Given the description of an element on the screen output the (x, y) to click on. 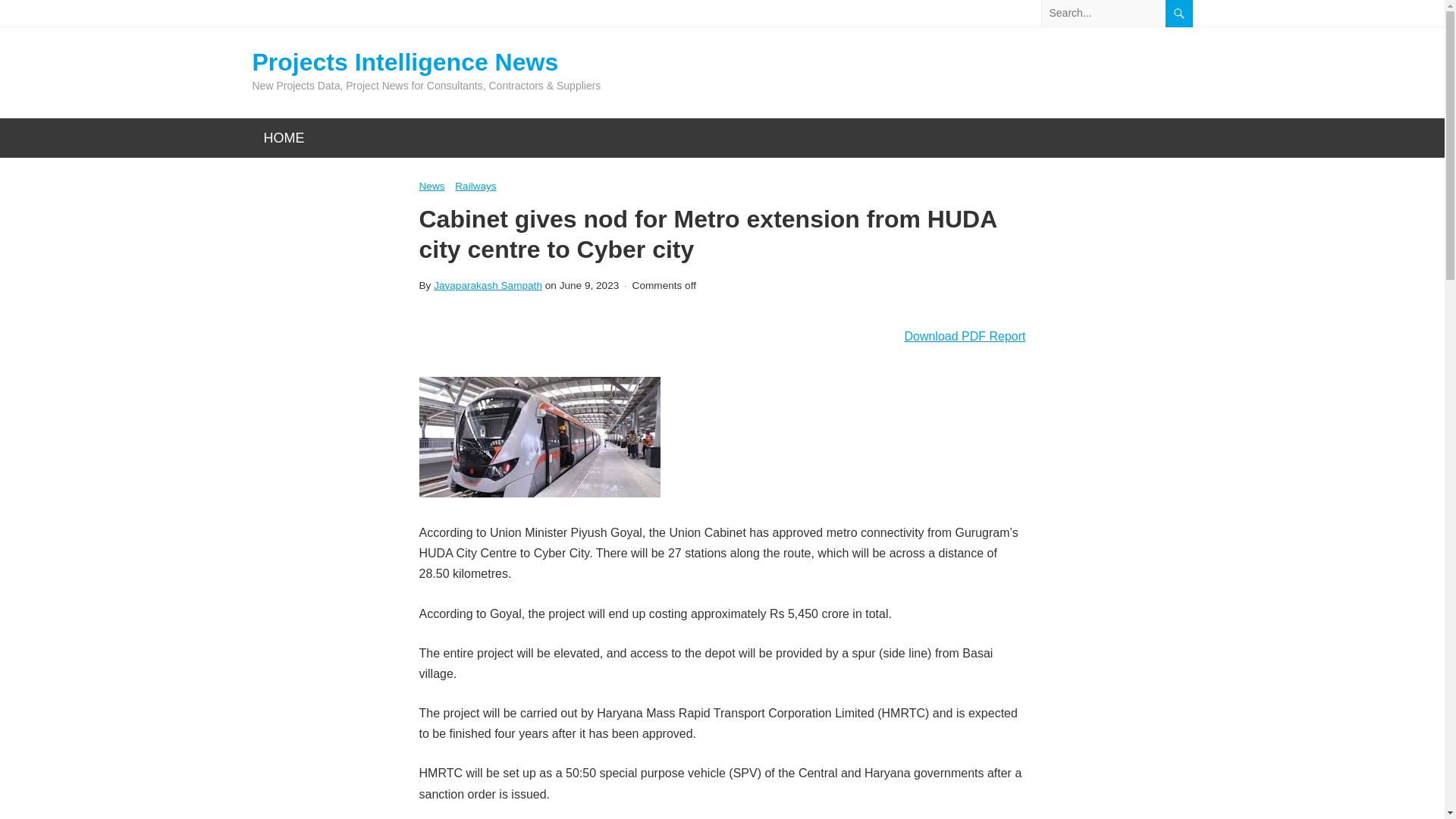
HOME (283, 137)
News (431, 186)
Posts by Jayaparakash Sampath (487, 285)
Railways (475, 186)
Jayaparakash Sampath (487, 285)
Projects Intelligence News (425, 61)
Download PDF Report (962, 335)
